Given the description of an element on the screen output the (x, y) to click on. 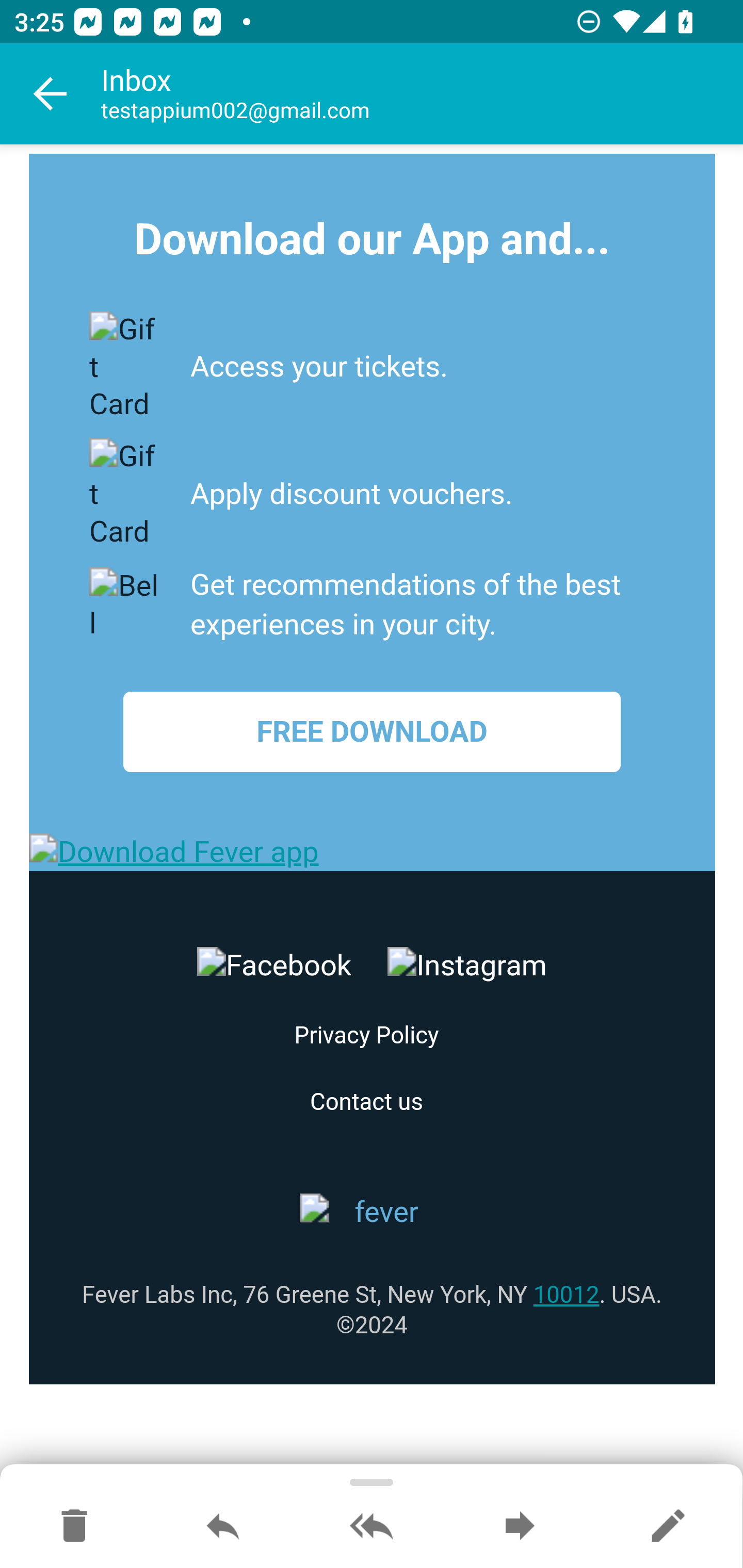
Navigate up (50, 93)
Inbox testappium002@gmail.com (422, 93)
FREE DOWNLOAD (371, 732)
Download Fever app (372, 853)
Facebook (274, 967)
Instagram (466, 967)
Privacy Policy (366, 1037)
Contact us (366, 1103)
fever (372, 1215)
10012 (565, 1295)
Move to Deleted (74, 1527)
Reply (222, 1527)
Reply all (371, 1527)
Forward (519, 1527)
Reply as new (667, 1527)
